Given the description of an element on the screen output the (x, y) to click on. 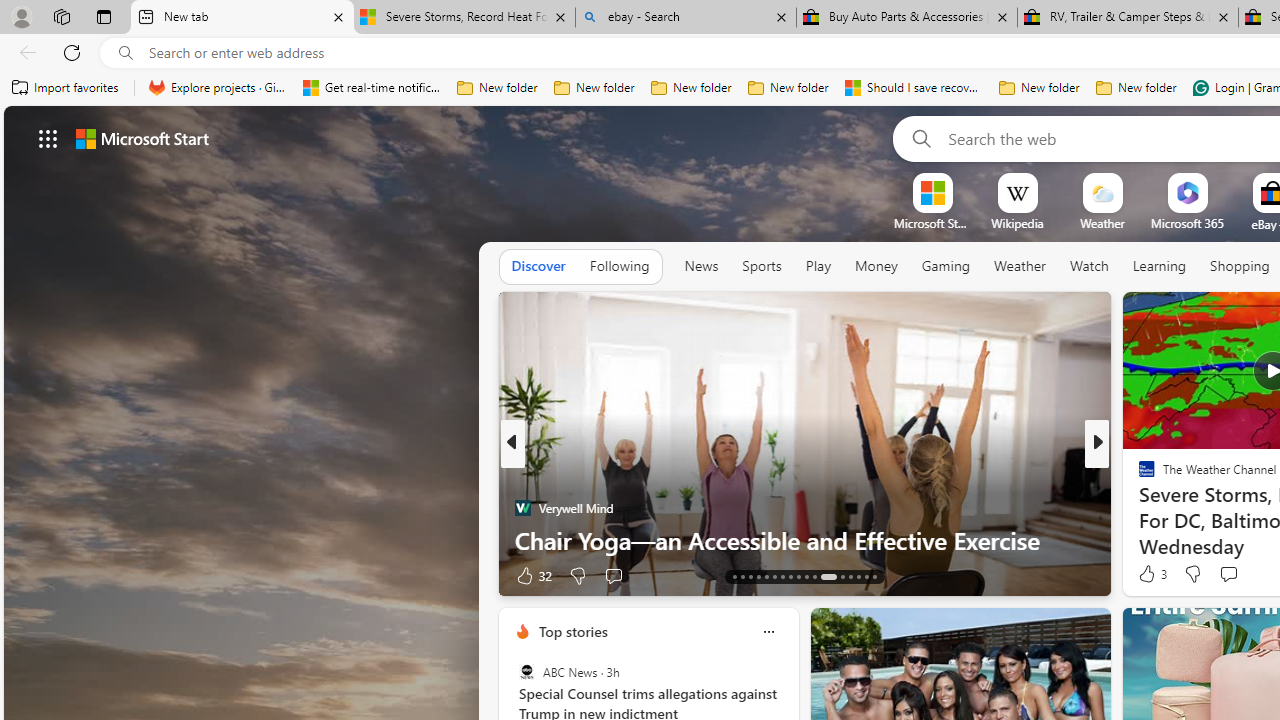
AutomationID: tab-28 (865, 576)
3 Like (1151, 574)
116 Like (1151, 574)
AutomationID: tab-18 (774, 576)
AutomationID: tab-15 (750, 576)
AutomationID: tab-20 (789, 576)
Learning (1159, 265)
Wikipedia (1017, 223)
AutomationID: tab-29 (874, 576)
Play (818, 267)
ABC News (526, 672)
Weather (1020, 265)
